Given the description of an element on the screen output the (x, y) to click on. 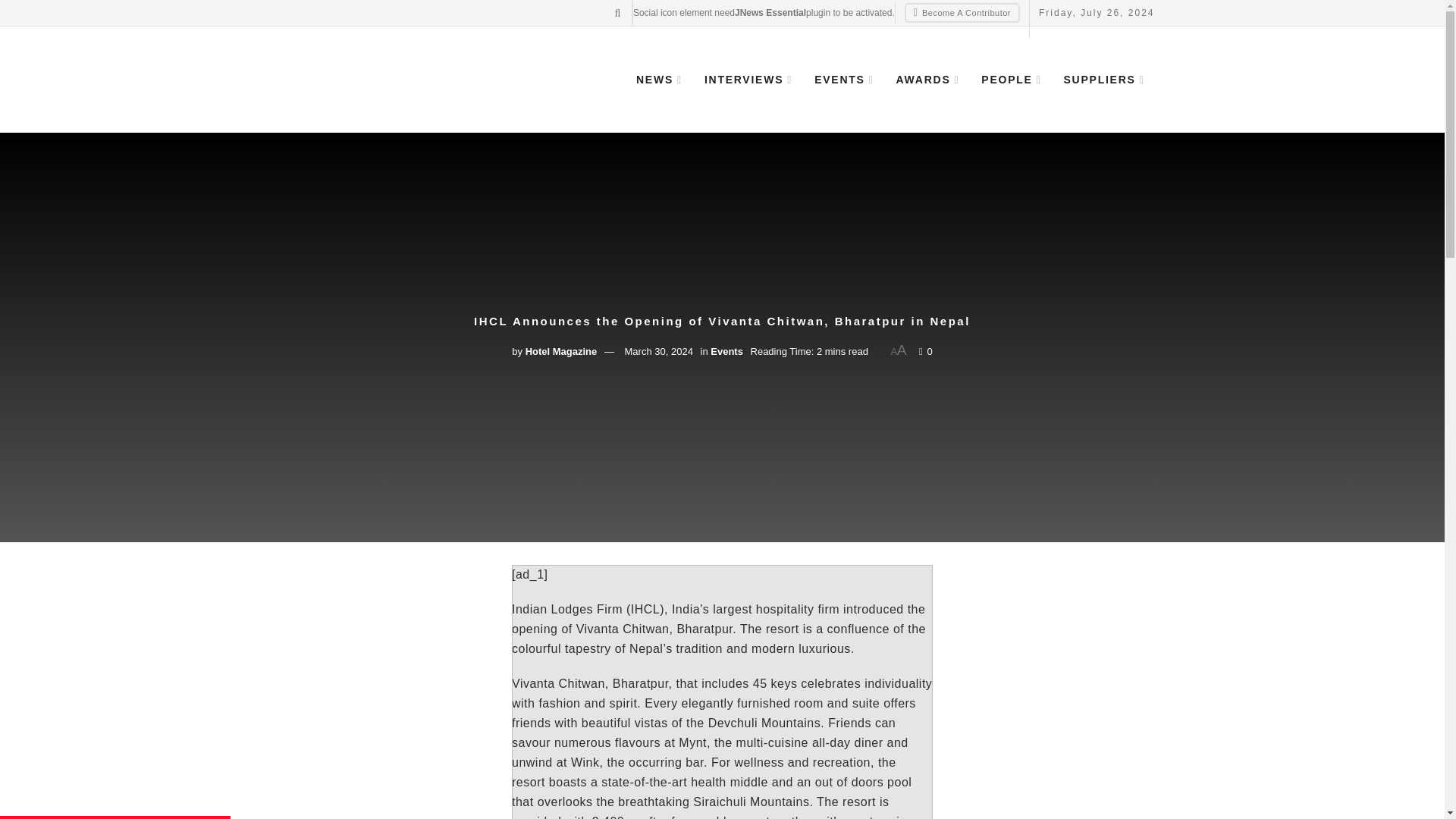
EVENTS (842, 79)
INTERVIEWS (747, 79)
Become A Contributor (962, 12)
NEWS (658, 79)
